Given the description of an element on the screen output the (x, y) to click on. 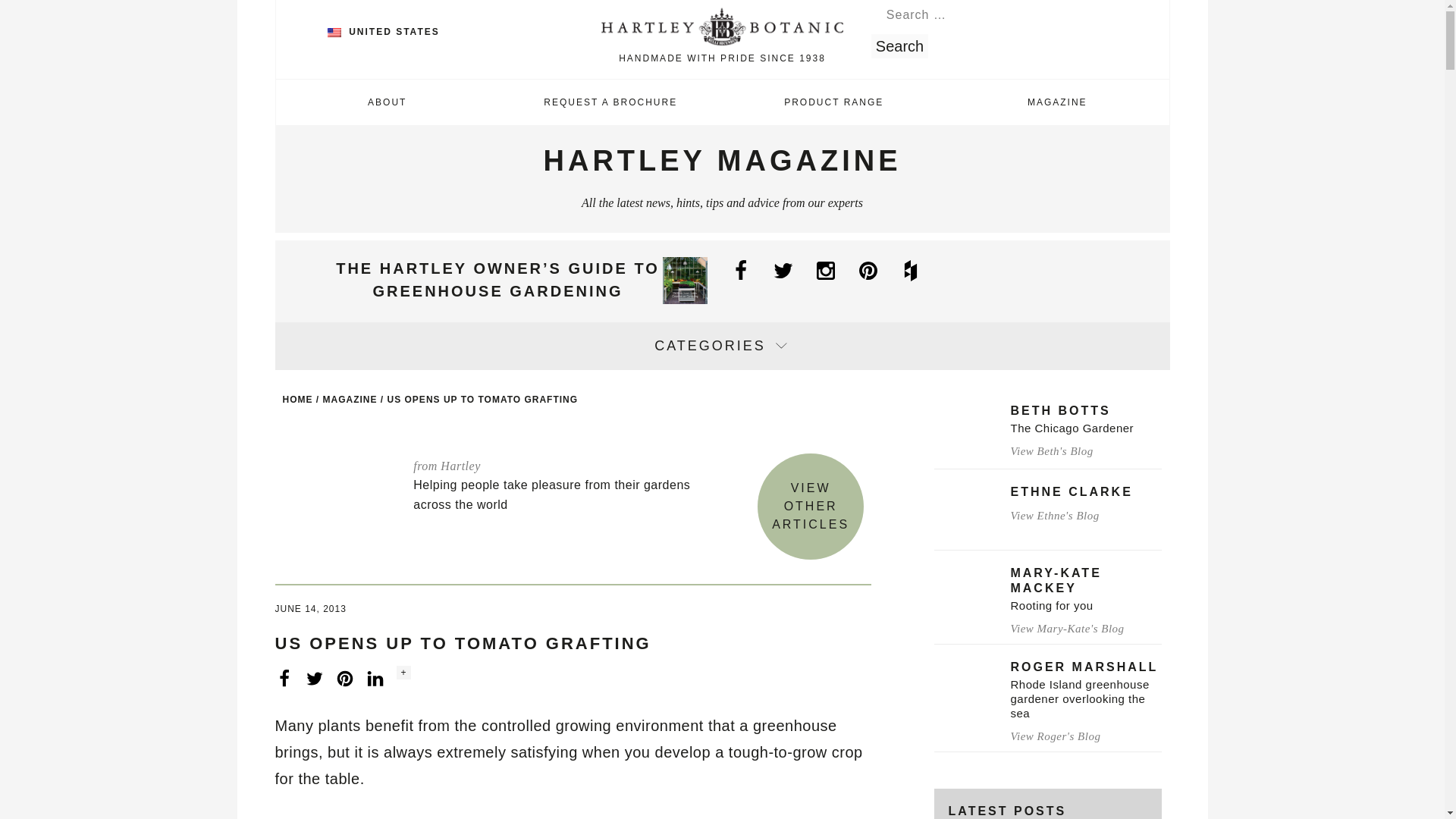
Search (899, 46)
PRODUCT RANGE (833, 102)
Search (899, 46)
ABOUT (387, 102)
HANDMADE WITH PRIDE SINCE 1938 (722, 38)
  UNITED STATES (383, 31)
United States (333, 31)
REQUEST A BROCHURE (610, 102)
Search (899, 46)
